Given the description of an element on the screen output the (x, y) to click on. 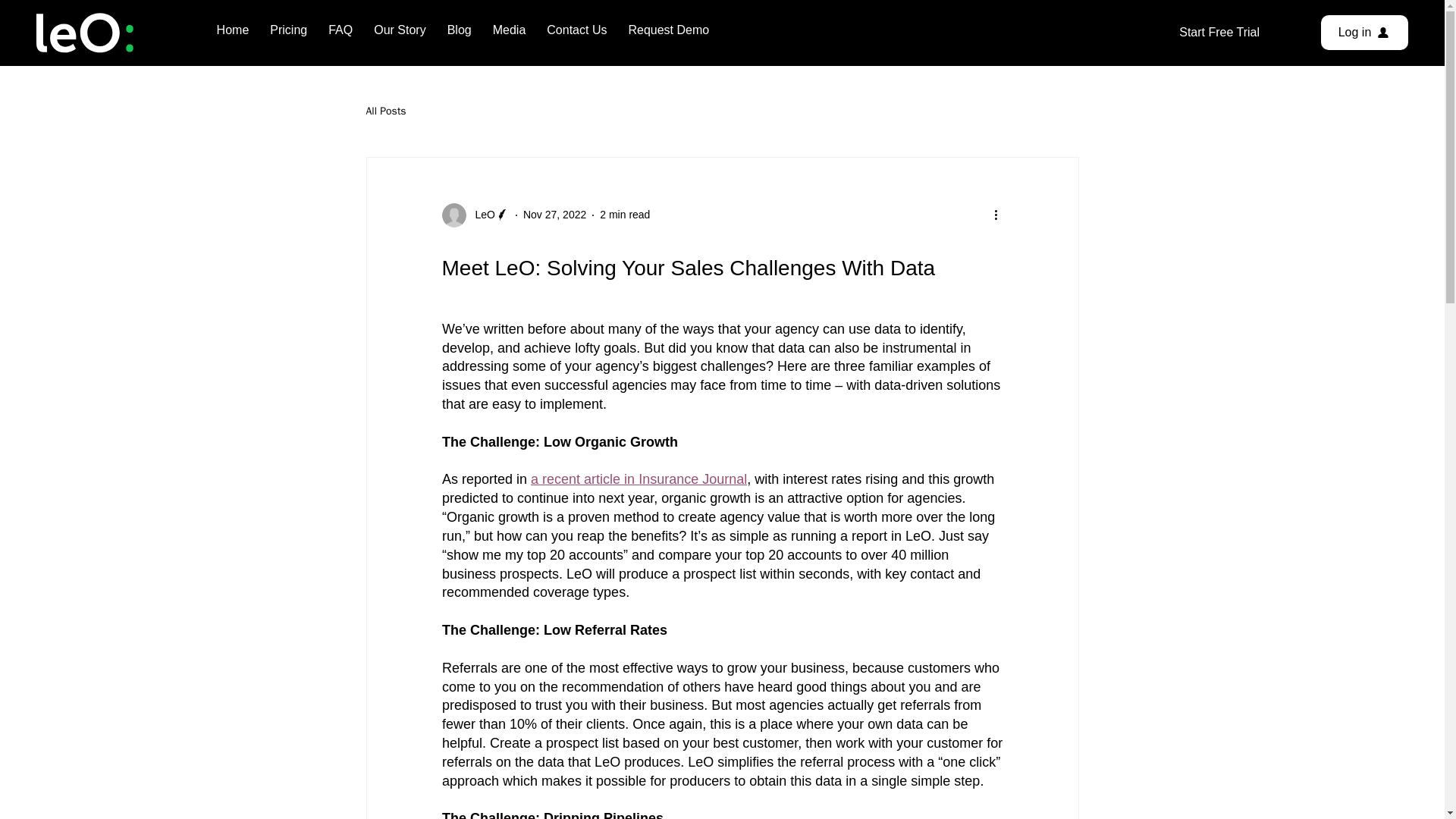
2 min read (624, 214)
Our Story (399, 30)
LeO (480, 214)
All Posts (385, 110)
FAQ (339, 30)
Pricing (288, 30)
Log in (1363, 32)
Blog (459, 30)
a recent article in Insurance Journal (638, 478)
Home (233, 30)
Nov 27, 2022 (554, 214)
Media (509, 30)
Contact Us (576, 30)
Request Demo (668, 30)
